Given the description of an element on the screen output the (x, y) to click on. 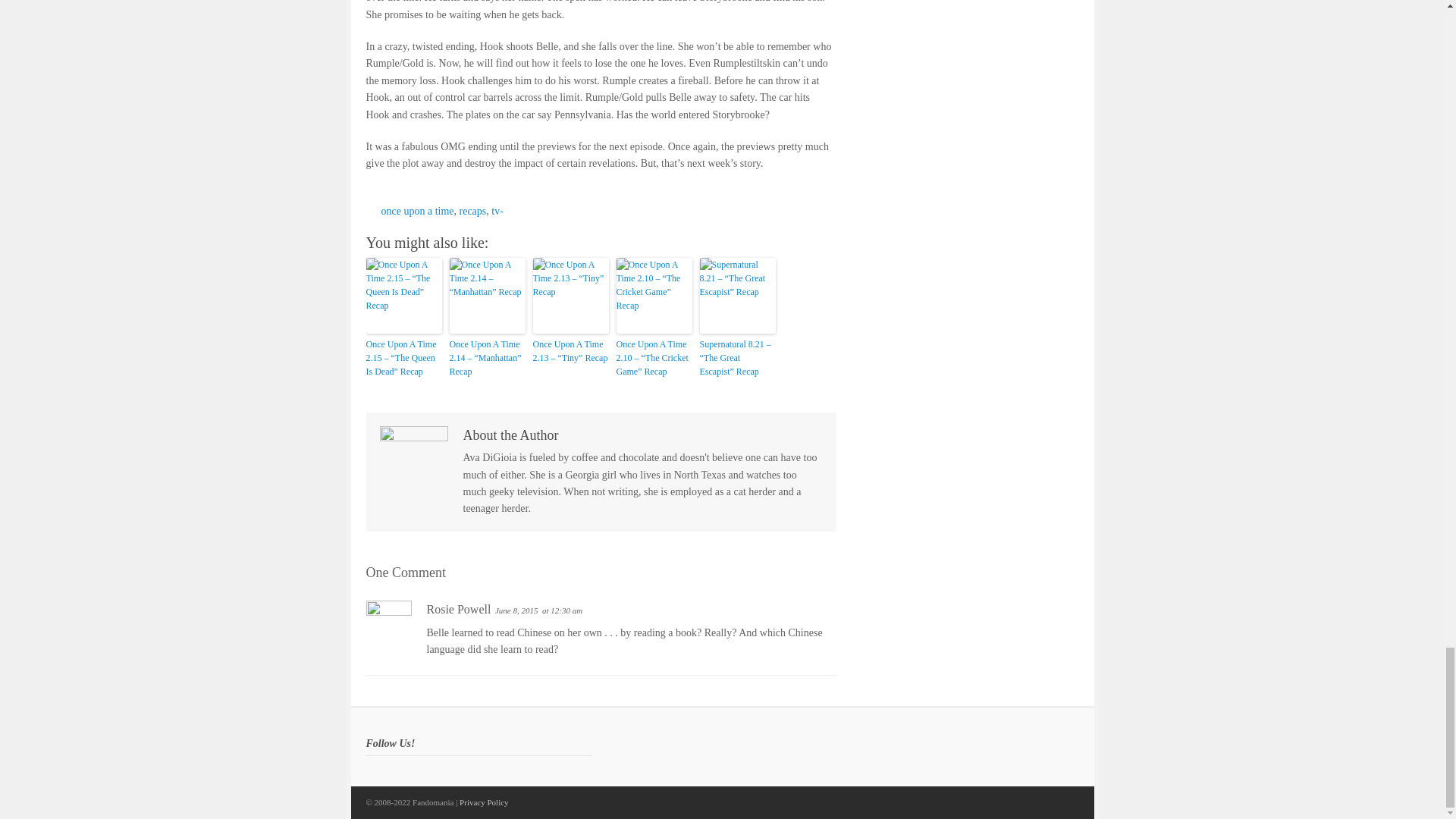
once upon a time (416, 211)
tv- (497, 211)
recaps (473, 211)
